Given the description of an element on the screen output the (x, y) to click on. 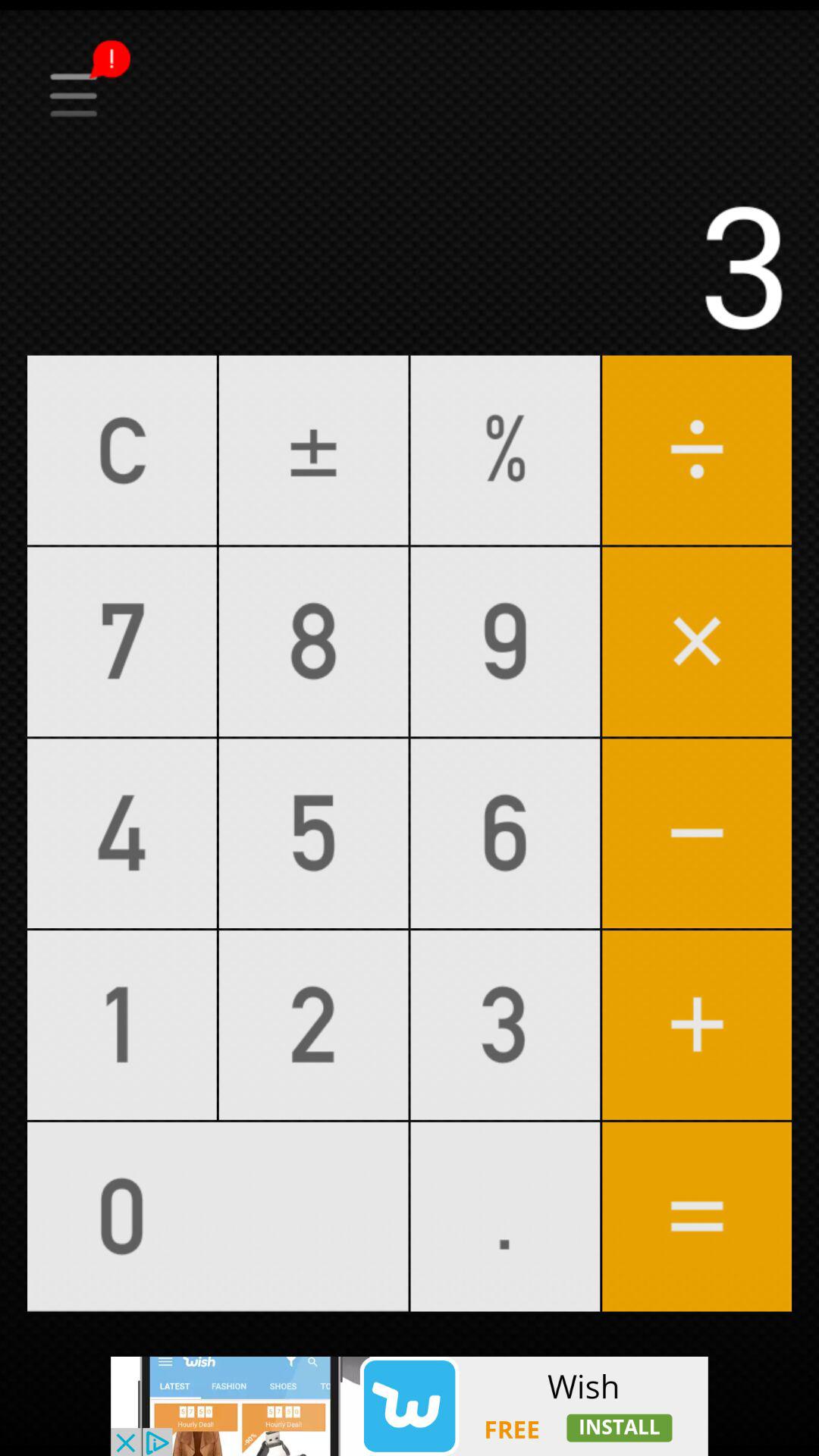
know about the advertisement (409, 1406)
